Given the description of an element on the screen output the (x, y) to click on. 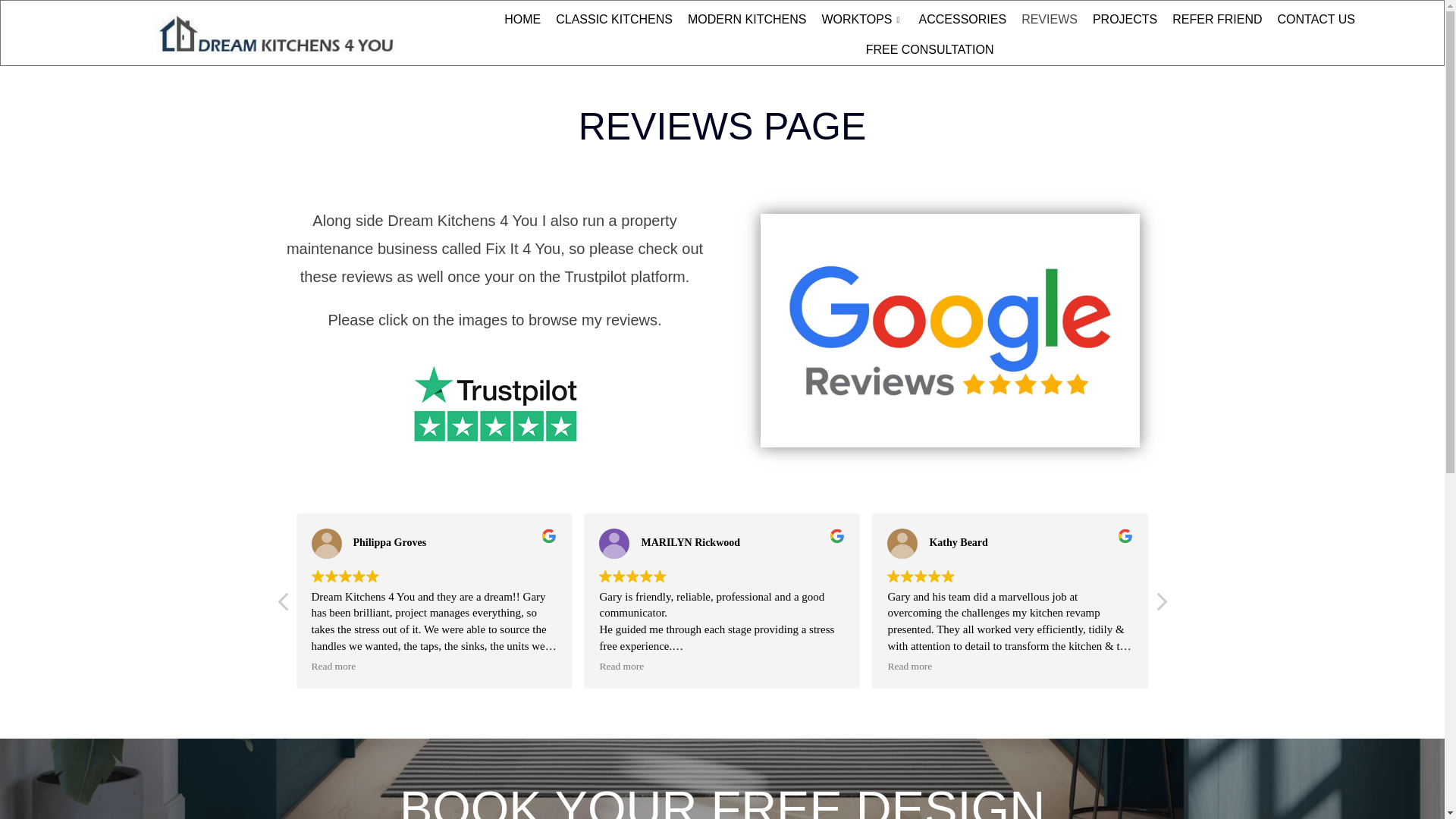
ACCESSORIES (962, 19)
MODERN KITCHENS (746, 19)
HOME (522, 19)
WORKTOPS (862, 19)
REFER FRIEND (1216, 19)
CLASSIC KITCHENS (613, 19)
FREE CONSULTATION (930, 50)
CONTACT US (1315, 19)
PROJECTS (1124, 19)
REVIEWS (1048, 19)
